Given the description of an element on the screen output the (x, y) to click on. 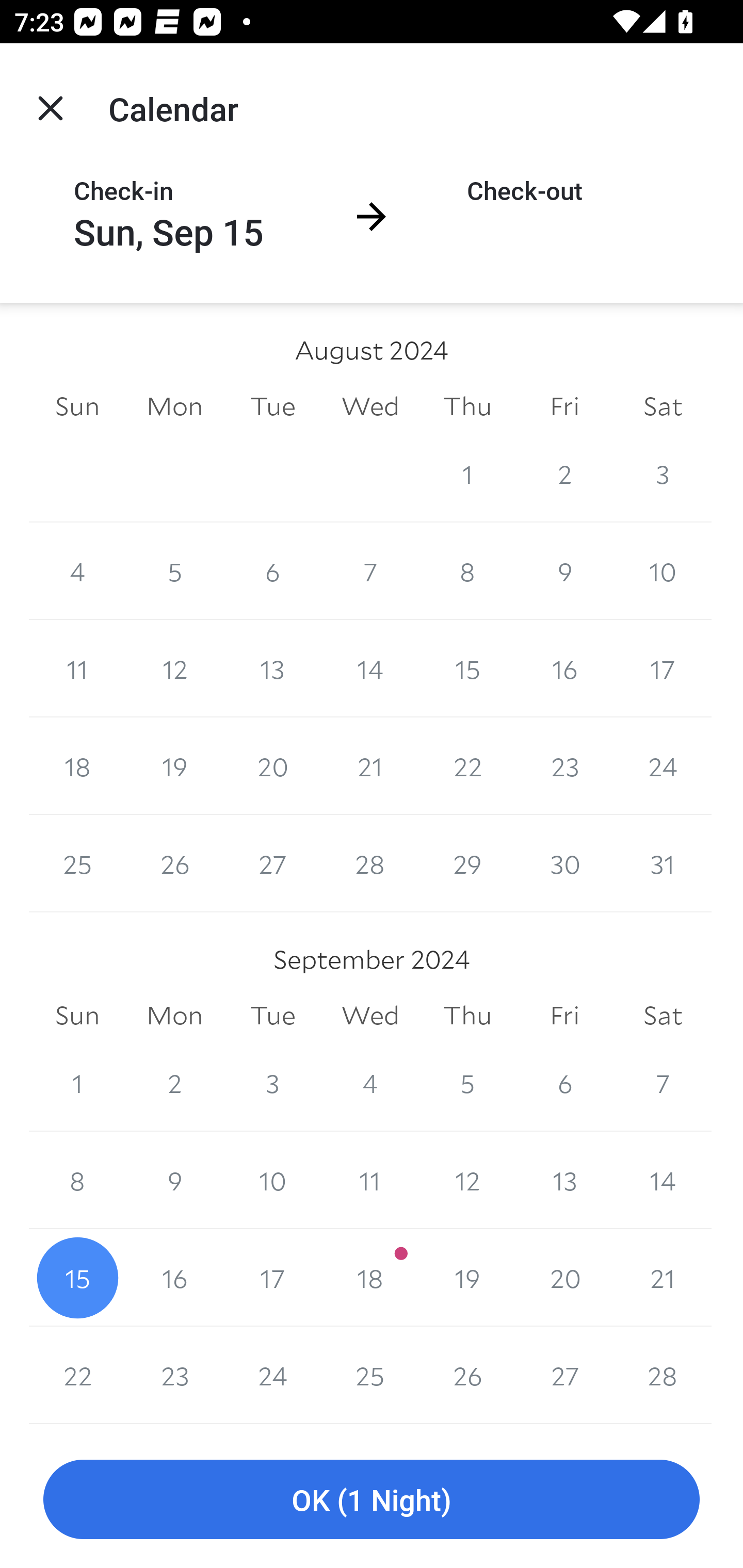
Sun (77, 405)
Mon (174, 405)
Tue (272, 405)
Wed (370, 405)
Thu (467, 405)
Fri (564, 405)
Sat (662, 405)
1 1 August 2024 (467, 473)
2 2 August 2024 (564, 473)
3 3 August 2024 (662, 473)
4 4 August 2024 (77, 570)
5 5 August 2024 (174, 570)
6 6 August 2024 (272, 570)
7 7 August 2024 (370, 570)
8 8 August 2024 (467, 570)
9 9 August 2024 (564, 570)
10 10 August 2024 (662, 570)
11 11 August 2024 (77, 668)
12 12 August 2024 (174, 668)
13 13 August 2024 (272, 668)
14 14 August 2024 (370, 668)
15 15 August 2024 (467, 668)
16 16 August 2024 (564, 668)
17 17 August 2024 (662, 668)
18 18 August 2024 (77, 766)
19 19 August 2024 (174, 766)
20 20 August 2024 (272, 766)
21 21 August 2024 (370, 766)
22 22 August 2024 (467, 766)
23 23 August 2024 (564, 766)
24 24 August 2024 (662, 766)
25 25 August 2024 (77, 863)
26 26 August 2024 (174, 863)
27 27 August 2024 (272, 863)
28 28 August 2024 (370, 863)
29 29 August 2024 (467, 863)
30 30 August 2024 (564, 863)
31 31 August 2024 (662, 863)
Sun (77, 1015)
Mon (174, 1015)
Tue (272, 1015)
Wed (370, 1015)
Thu (467, 1015)
Fri (564, 1015)
Sat (662, 1015)
1 1 September 2024 (77, 1083)
2 2 September 2024 (174, 1083)
3 3 September 2024 (272, 1083)
4 4 September 2024 (370, 1083)
